Given the description of an element on the screen output the (x, y) to click on. 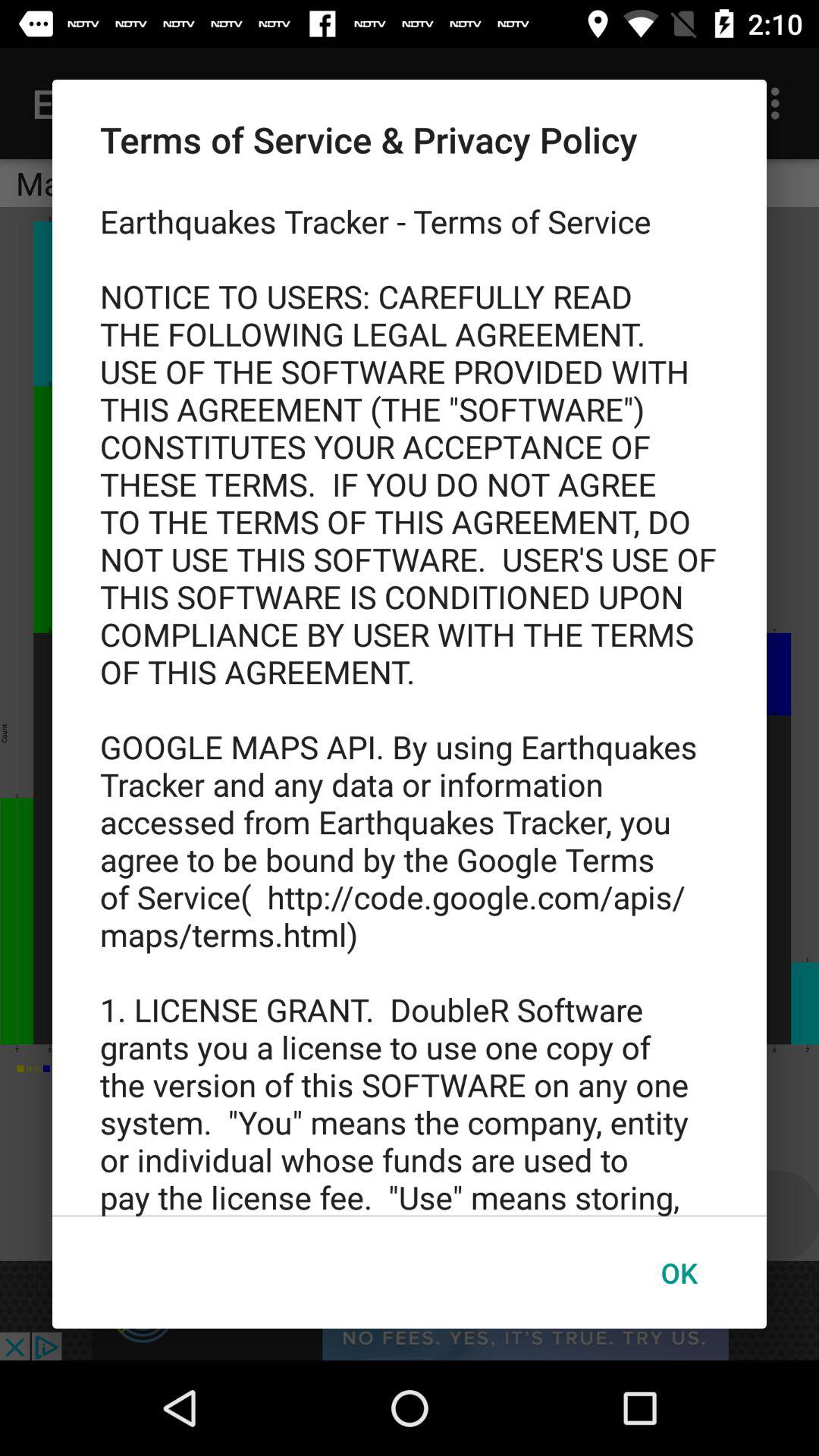
turn on the item below the earthquakes tracker terms (678, 1272)
